Given the description of an element on the screen output the (x, y) to click on. 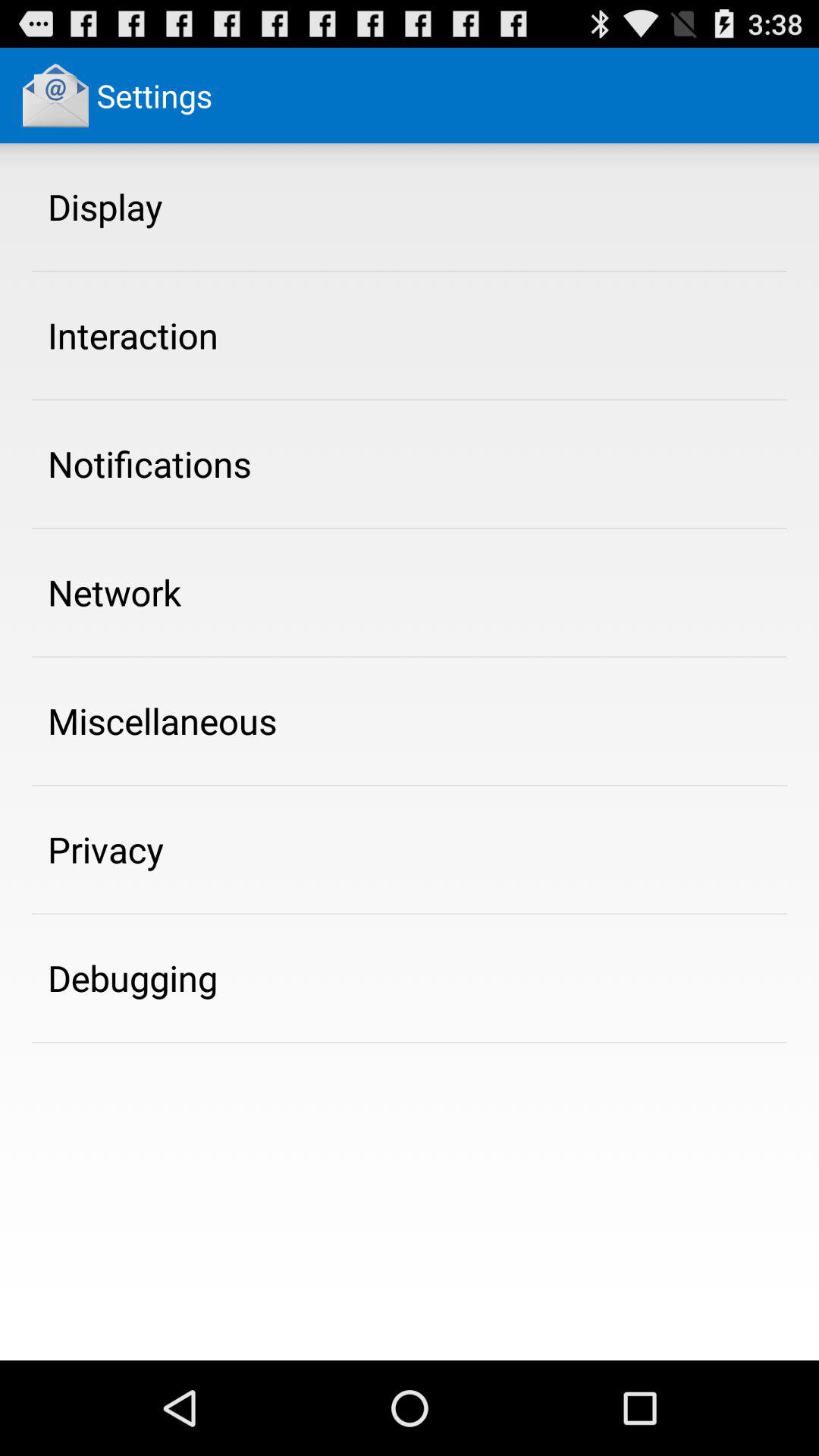
launch privacy item (105, 849)
